Given the description of an element on the screen output the (x, y) to click on. 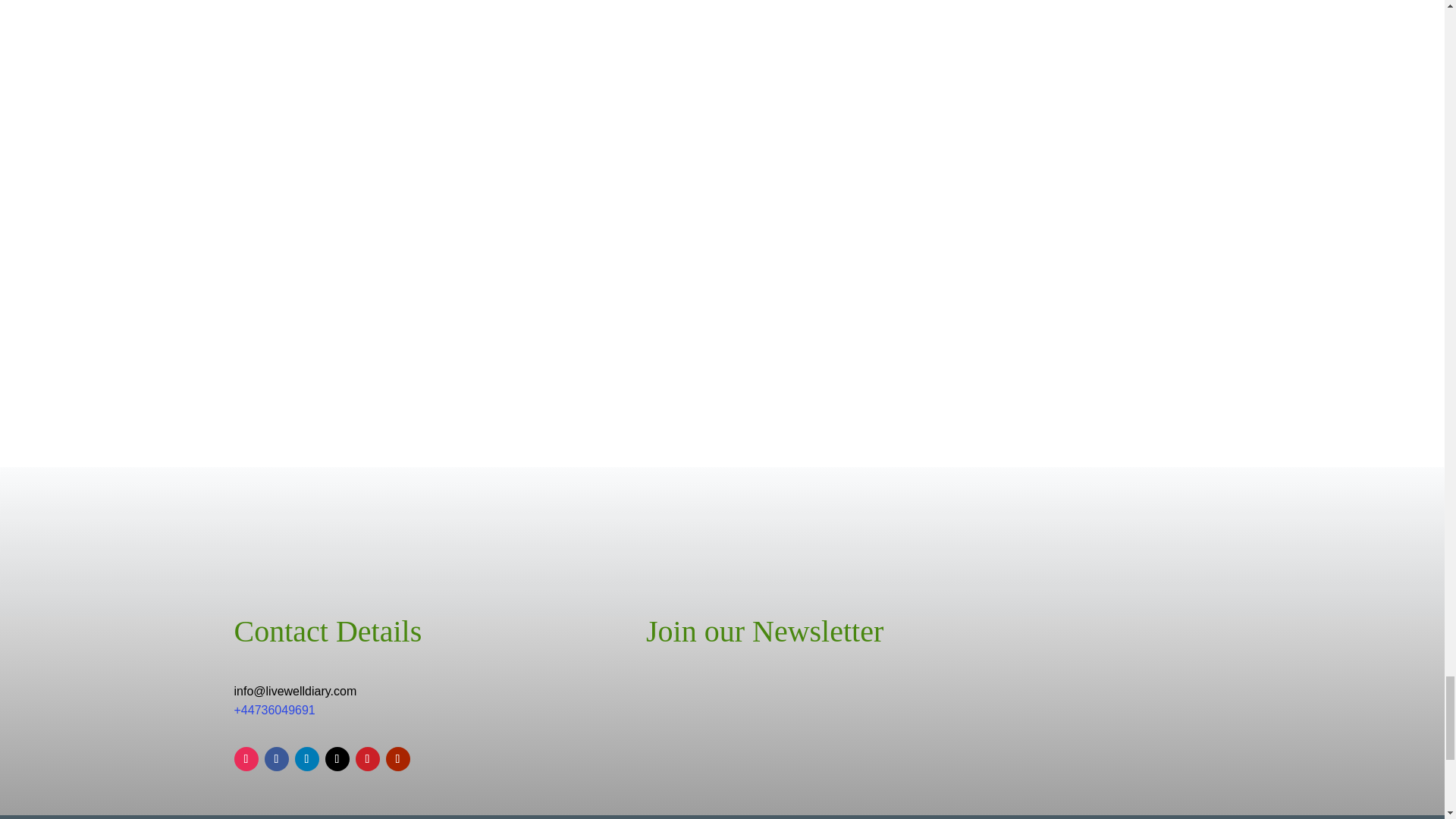
Follow on Facebook (275, 758)
Follow on Instagram (244, 758)
Follow on LinkedIn (306, 758)
Follow on Pinterest (366, 758)
Follow on Youtube (397, 758)
Follow on X (336, 758)
